Given the description of an element on the screen output the (x, y) to click on. 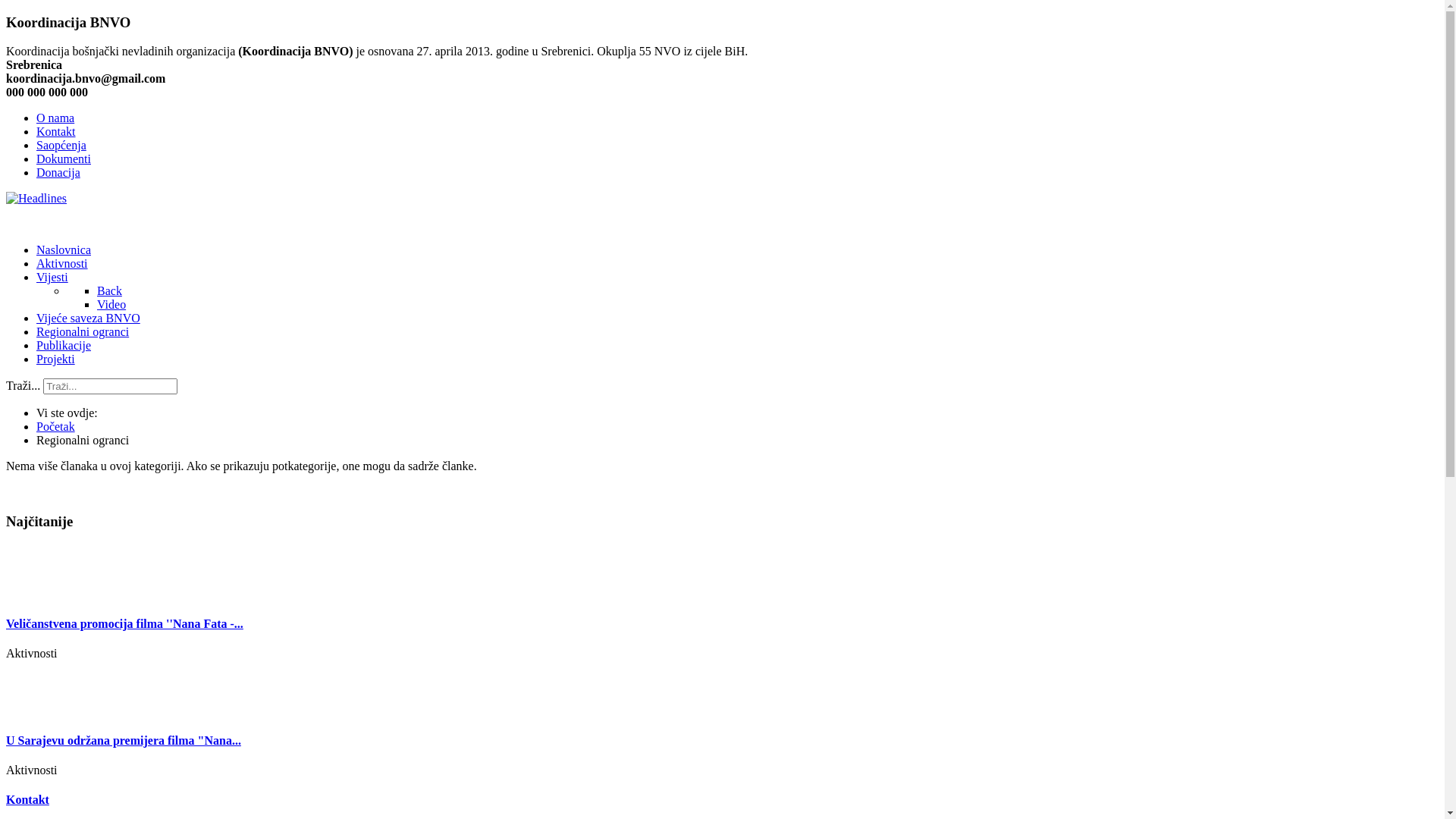
Headlines Element type: hover (36, 197)
Aktivnosti Element type: text (61, 263)
Kontakt Element type: text (55, 131)
Kontakt Element type: text (27, 799)
Regionalni ogranci Element type: text (82, 331)
Publikacije Element type: text (63, 344)
Naslovnica Element type: text (63, 249)
Back Element type: text (109, 290)
Donacija Element type: text (58, 172)
O nama Element type: text (55, 117)
Video Element type: text (111, 304)
Dokumenti Element type: text (63, 158)
Vijesti Element type: text (52, 276)
Projekti Element type: text (55, 358)
